Given the description of an element on the screen output the (x, y) to click on. 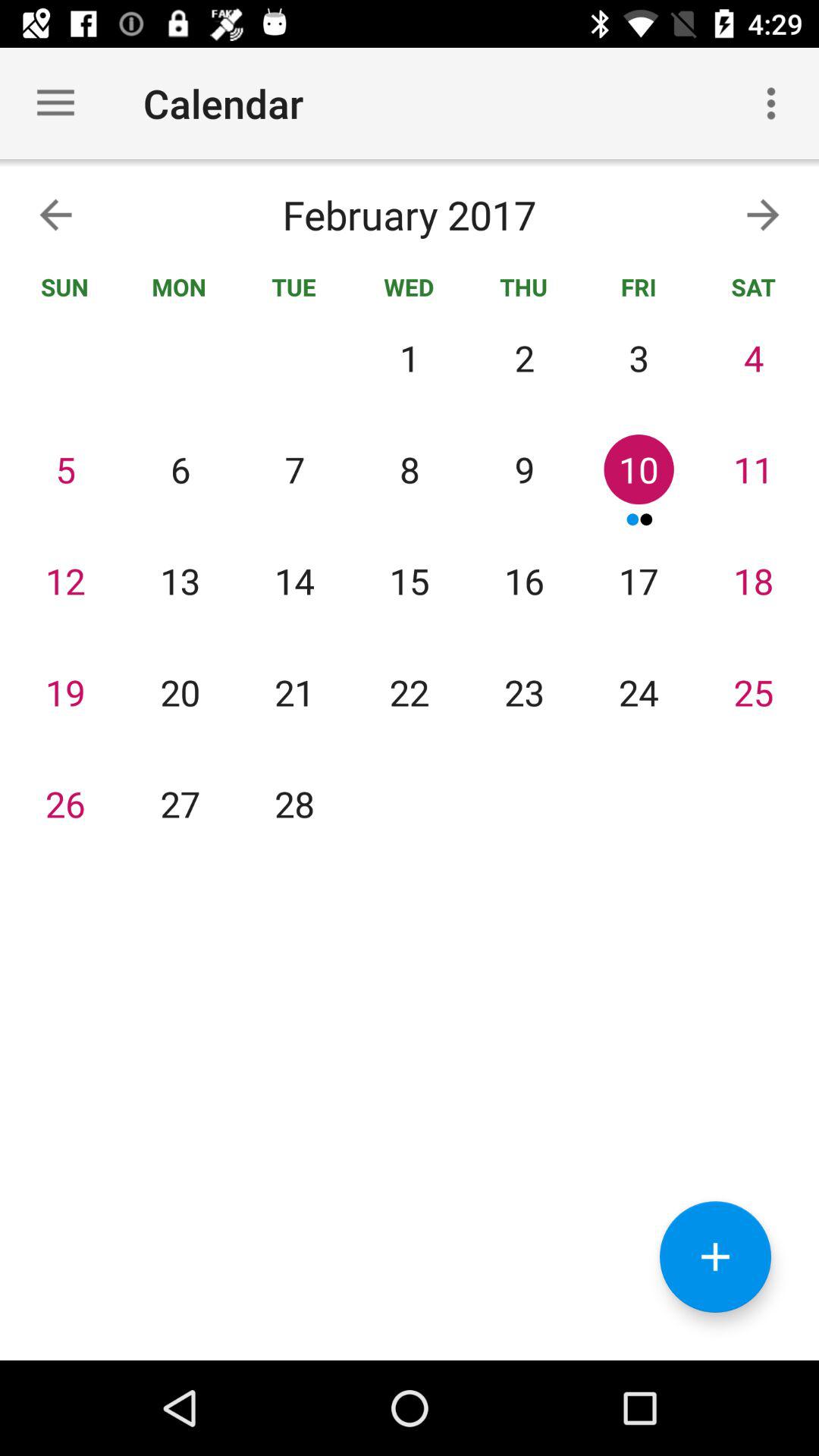
launch the item at the bottom right corner (715, 1256)
